Given the description of an element on the screen output the (x, y) to click on. 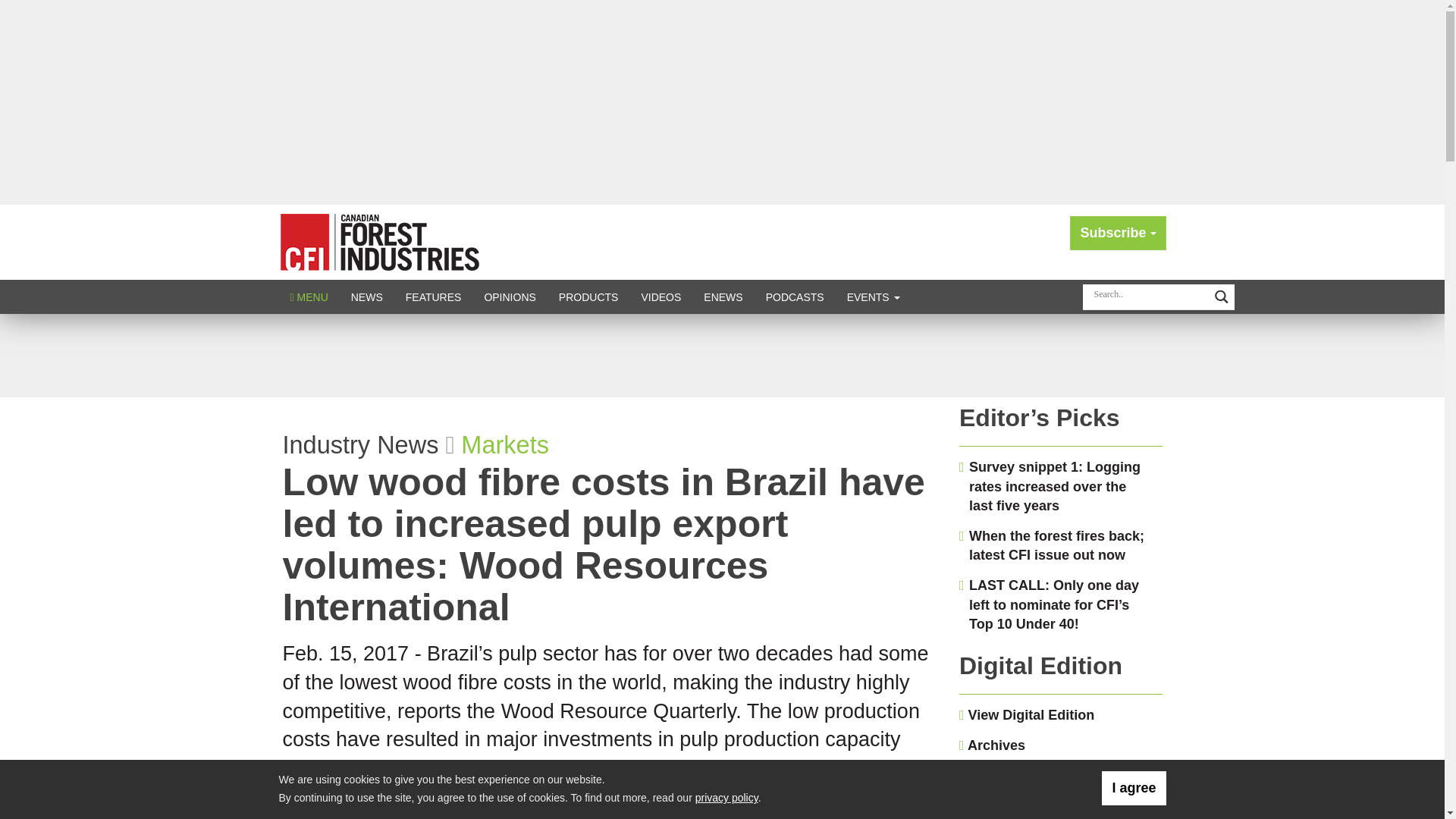
Click to show site navigation (309, 296)
PODCASTS (794, 296)
FEATURES (433, 296)
3rd party ad content (721, 355)
EVENTS (873, 296)
NEWS (366, 296)
VIDEOS (660, 296)
OPINIONS (509, 296)
ENEWS (723, 296)
